Given the description of an element on the screen output the (x, y) to click on. 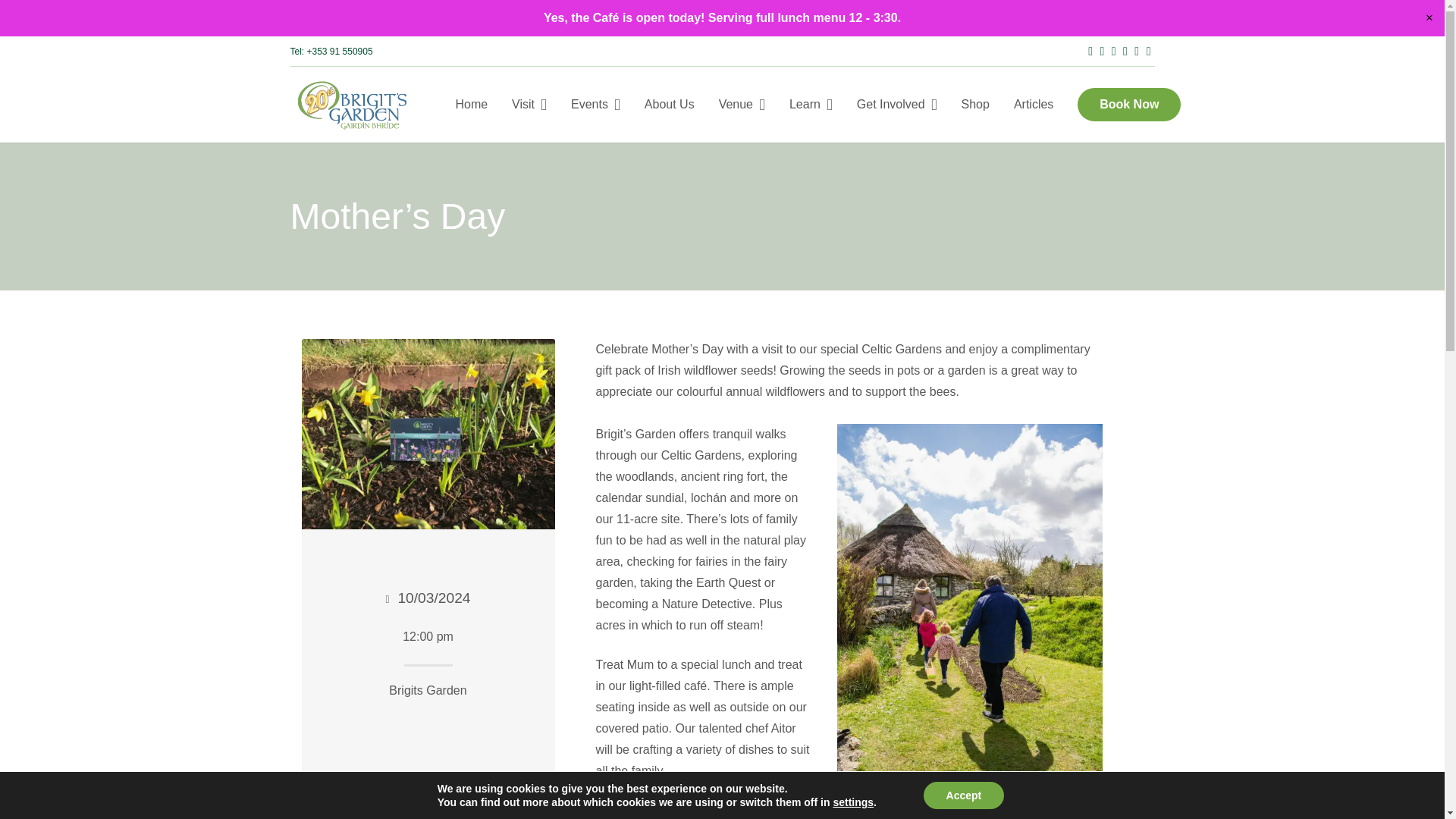
Events (595, 104)
Learn (810, 104)
Get Involved (896, 104)
Venue (741, 104)
About Us (668, 104)
